Given the description of an element on the screen output the (x, y) to click on. 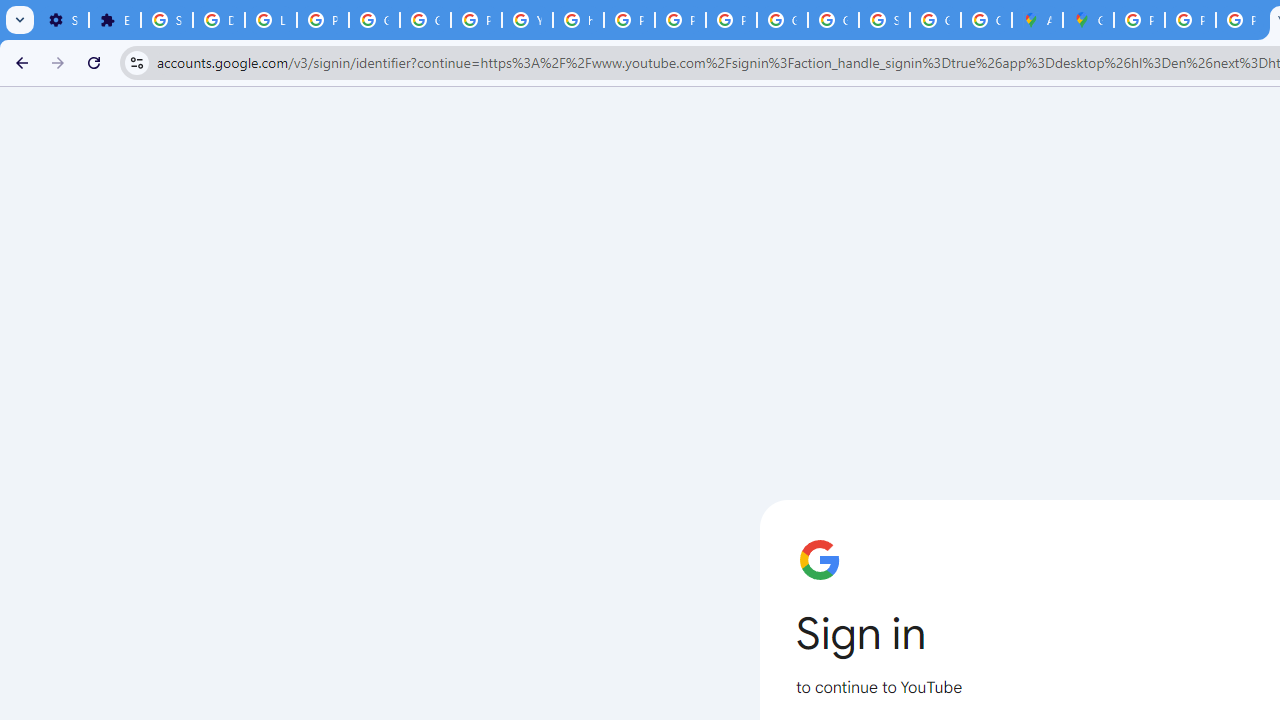
Delete photos & videos - Computer - Google Photos Help (218, 20)
